Given the description of an element on the screen output the (x, y) to click on. 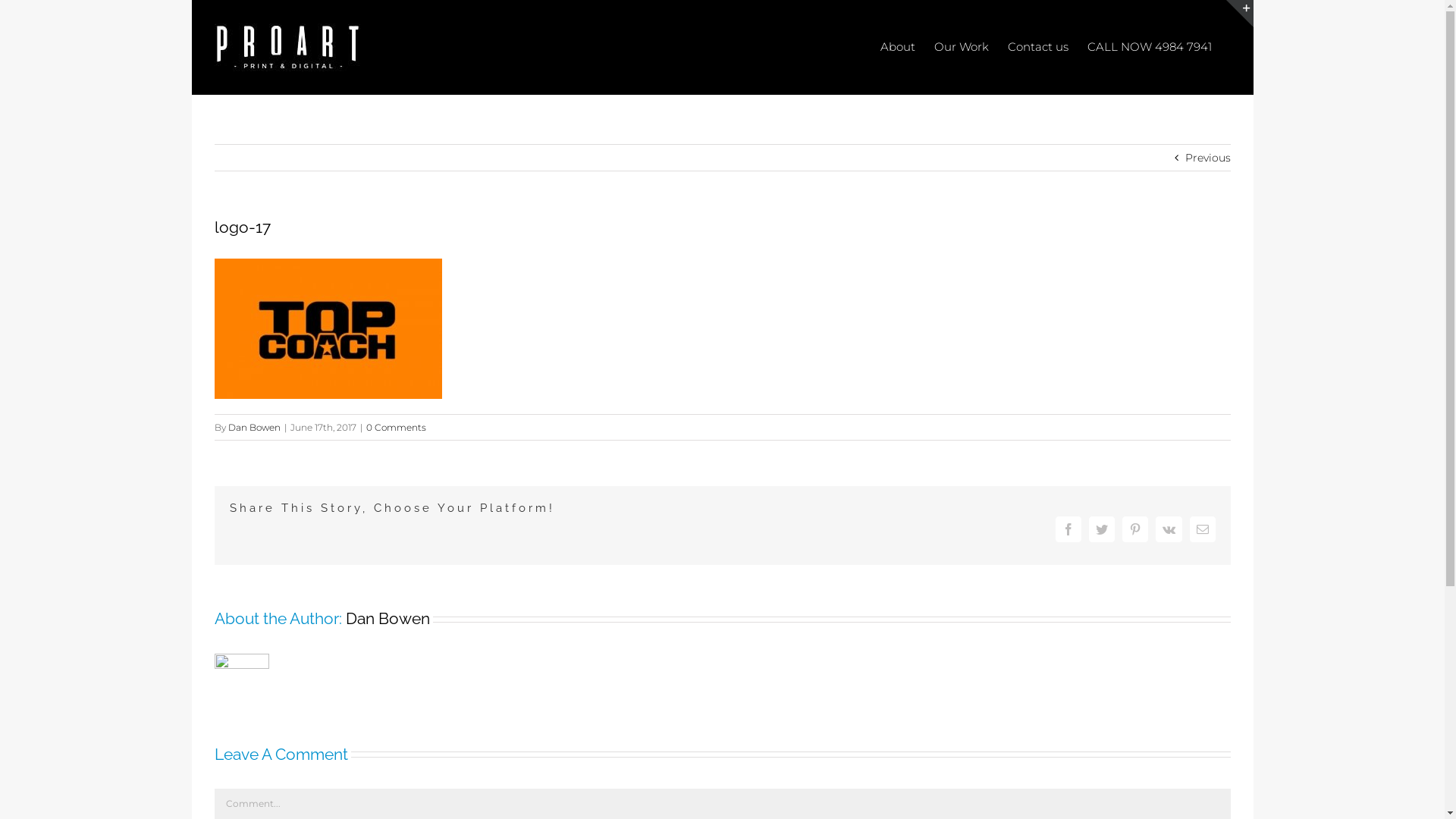
Email Element type: text (1201, 529)
About Element type: text (896, 45)
0 Comments Element type: text (395, 427)
CALL NOW 4984 7941 Element type: text (1149, 45)
Vk Element type: text (1168, 529)
Dan Bowen Element type: text (253, 427)
Toggle Sliding Bar Area Element type: text (1238, 13)
Previous Element type: text (1207, 157)
Dan Bowen Element type: text (387, 617)
Our Work Element type: text (961, 45)
Twitter Element type: text (1101, 529)
Pinterest Element type: text (1135, 529)
Facebook Element type: text (1068, 529)
Contact us Element type: text (1037, 45)
